Given the description of an element on the screen output the (x, y) to click on. 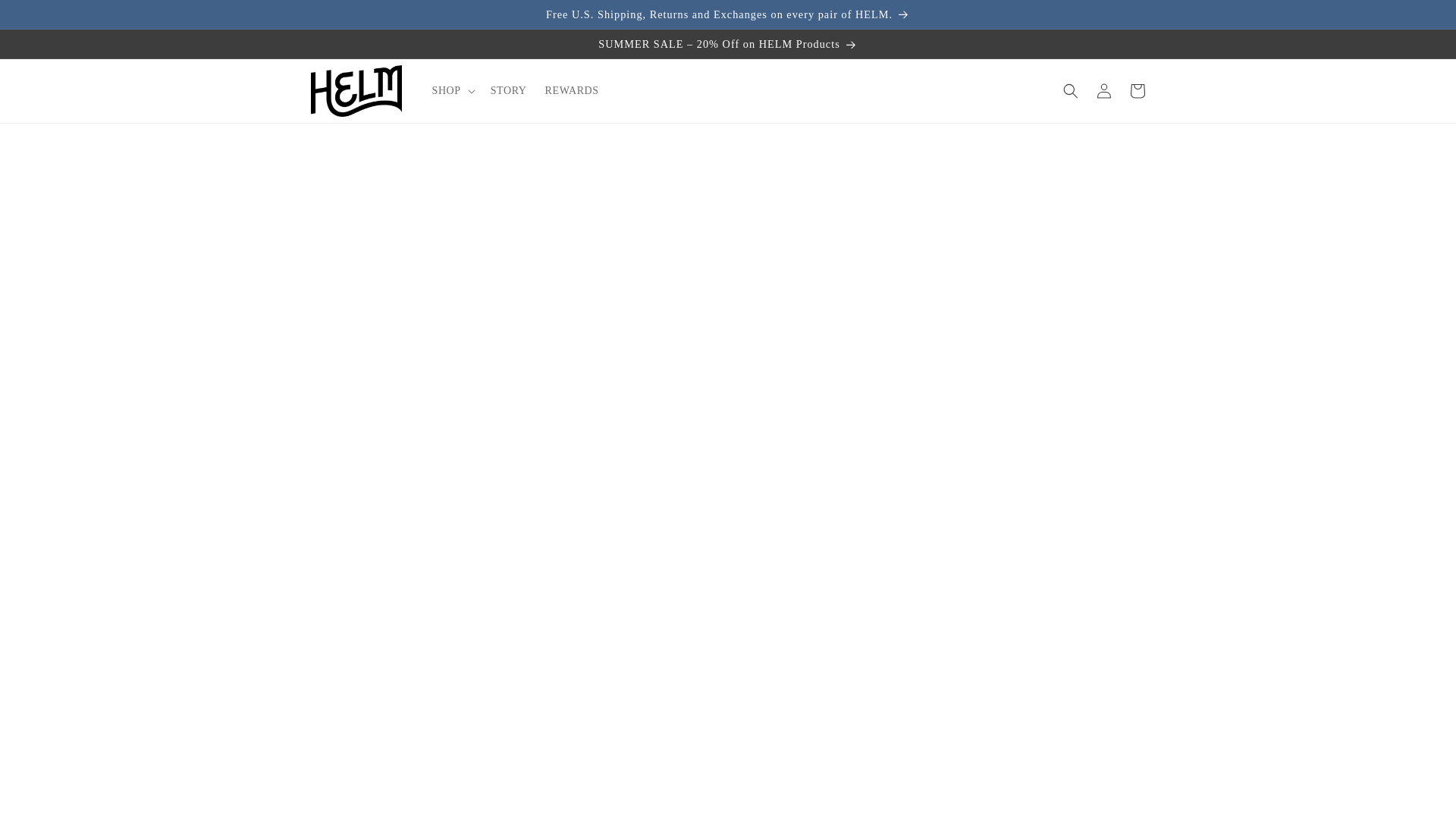
Skip to content (45, 17)
